Given the description of an element on the screen output the (x, y) to click on. 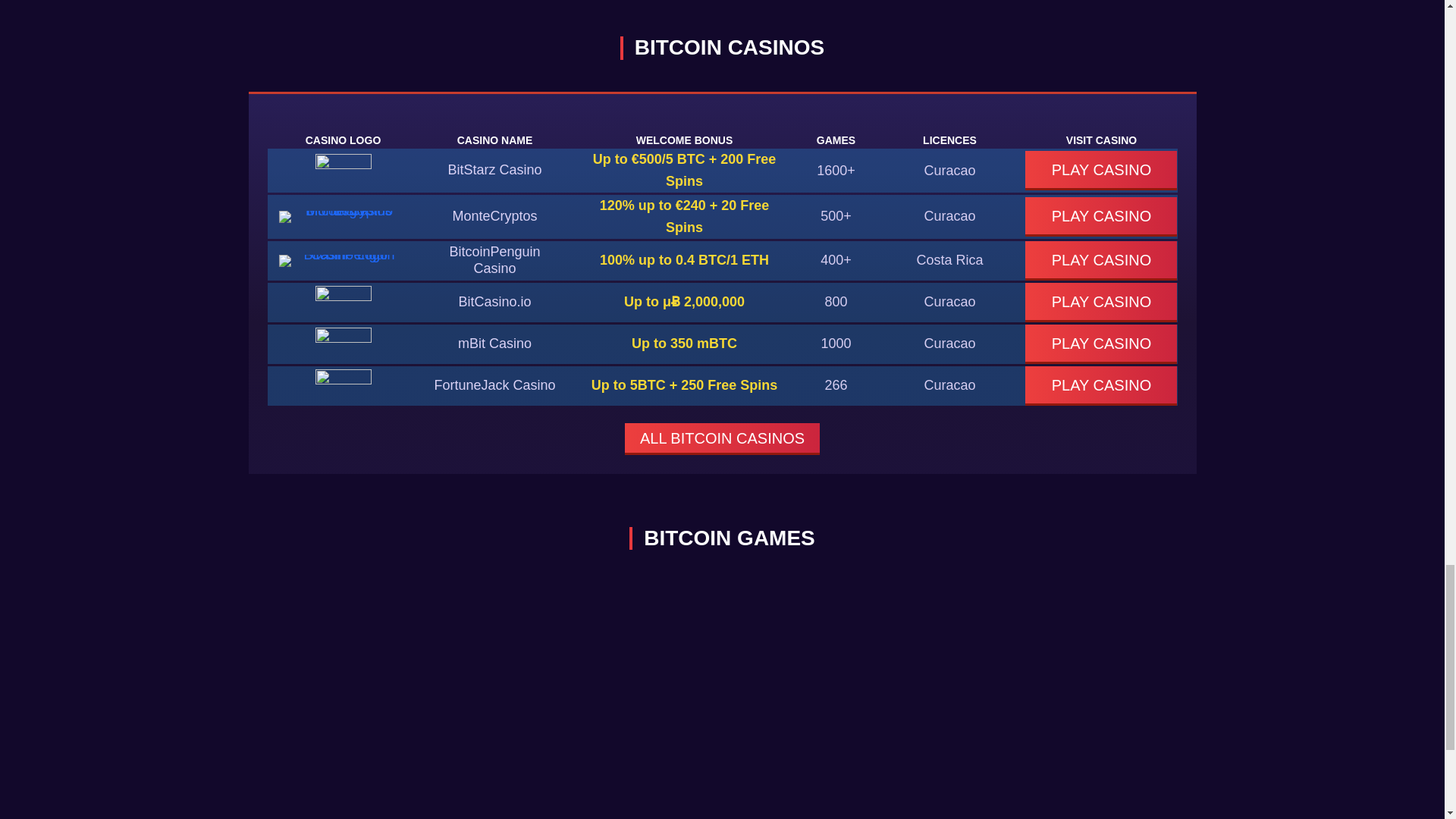
ALL BITCOIN CASINOS (721, 439)
BitcoinPenguin Casino (494, 260)
BitCasino.io (494, 301)
BitStarz Casino (493, 169)
MonteCryptos (494, 215)
FortuneJack Casino (493, 385)
mBit Casino (494, 343)
